Given the description of an element on the screen output the (x, y) to click on. 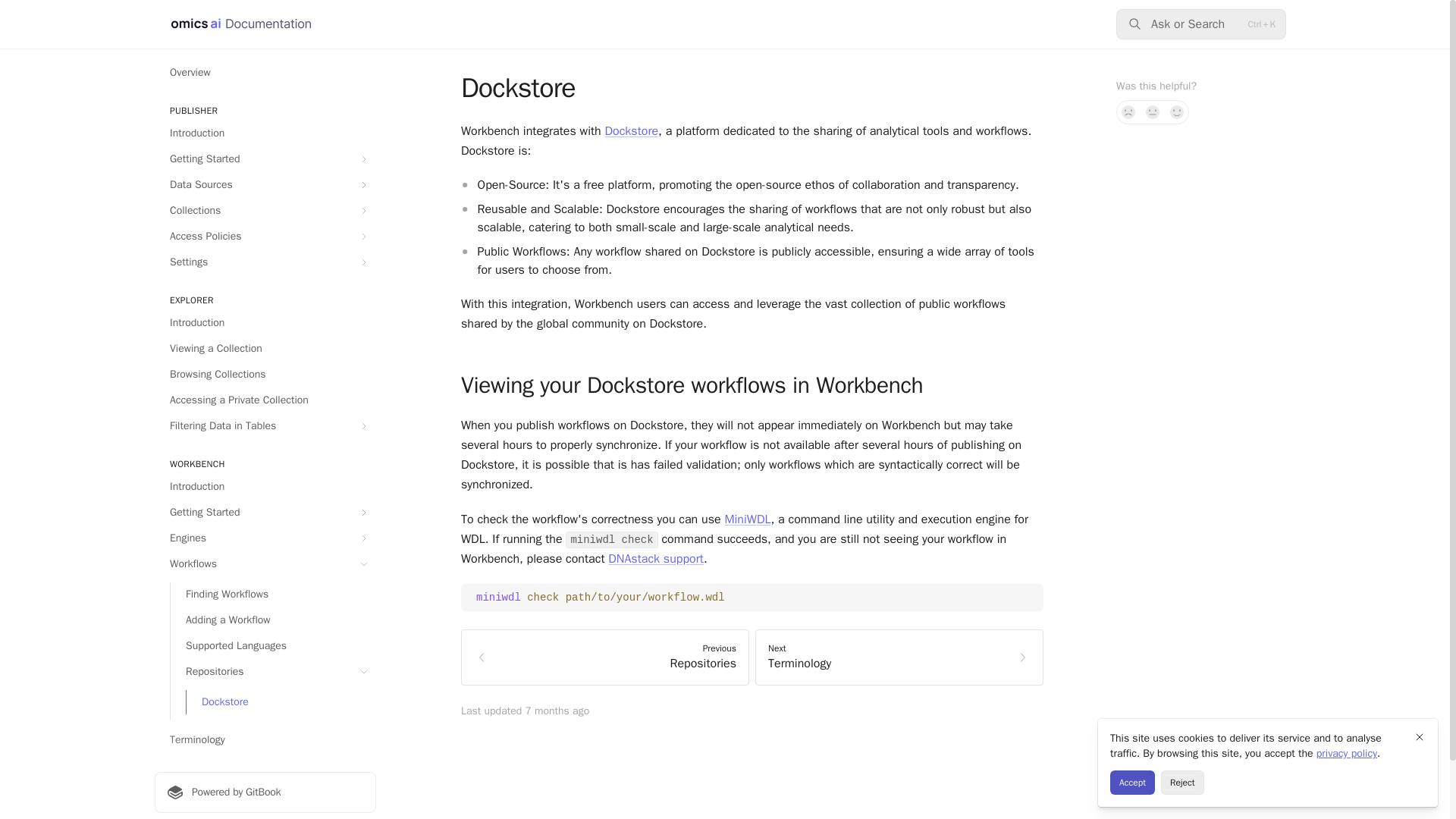
Yes, it was! (1176, 111)
Data Sources (264, 184)
Collections (264, 210)
Close (1419, 737)
Overview (264, 72)
No (1128, 111)
Access Policies (264, 236)
Not sure (1152, 111)
Getting Started (264, 159)
Introduction (264, 322)
Viewing a Collection (264, 348)
Filtering Data in Tables (264, 426)
Introduction (264, 486)
Settings (264, 262)
Browsing Collections (264, 374)
